Given the description of an element on the screen output the (x, y) to click on. 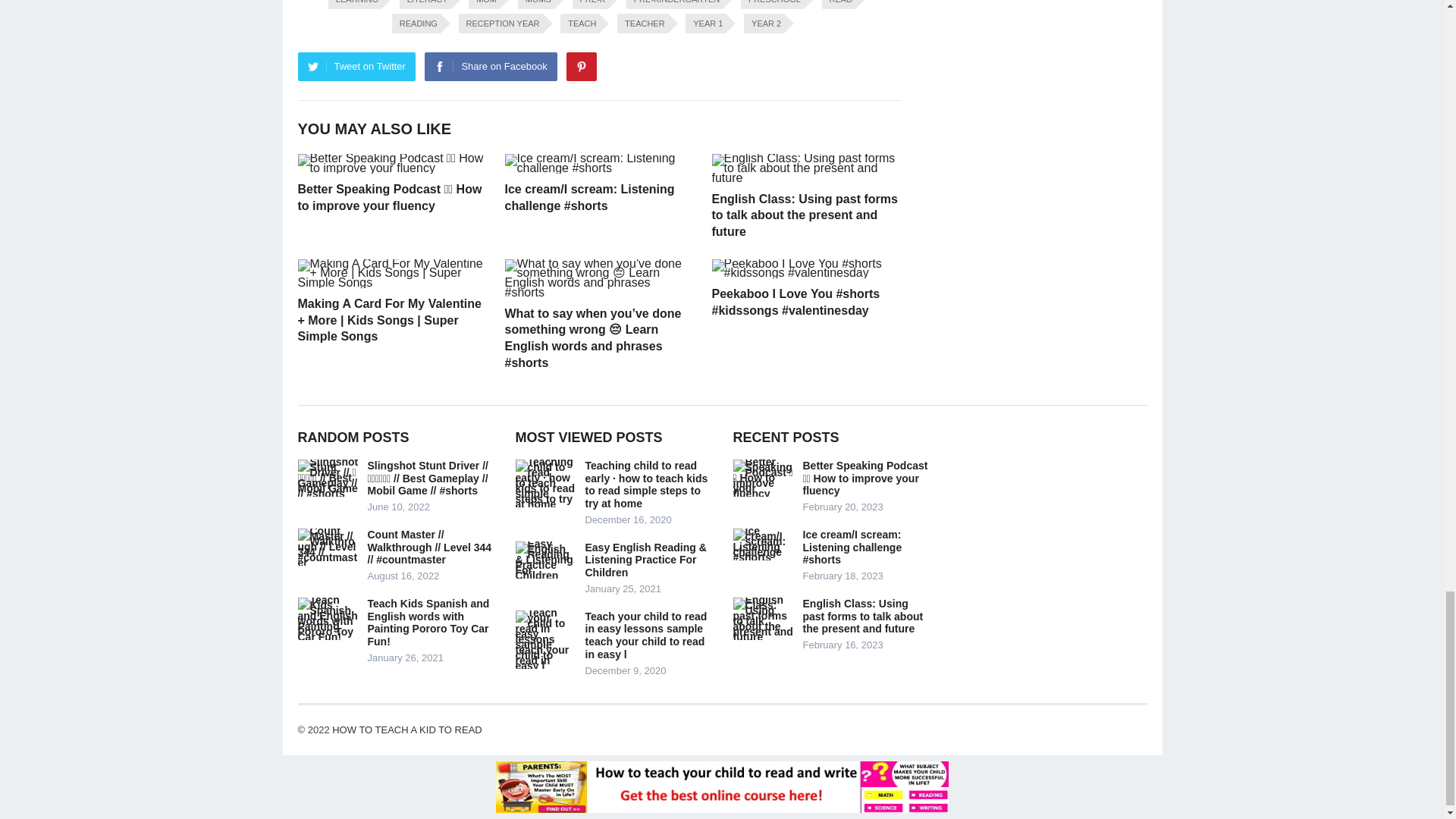
MOMS (536, 4)
LEARNING (355, 4)
LITERACY (424, 4)
PRE-K (590, 4)
MOM (483, 4)
PRE-KINDERGARTEN (674, 4)
PRESCHOOL (772, 4)
